Given the description of an element on the screen output the (x, y) to click on. 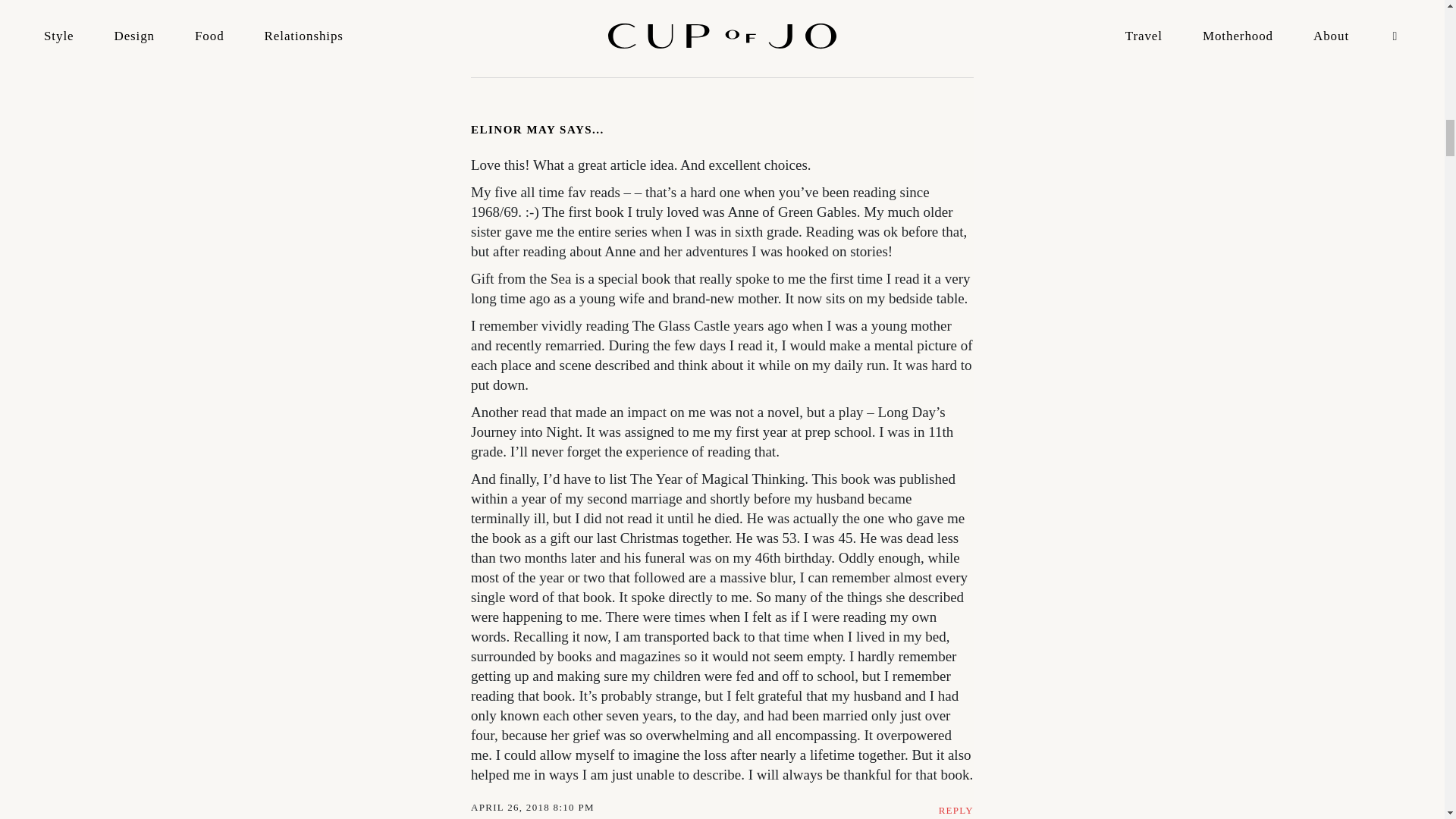
October 15, 2018 11:13 am (549, 55)
